Given the description of an element on the screen output the (x, y) to click on. 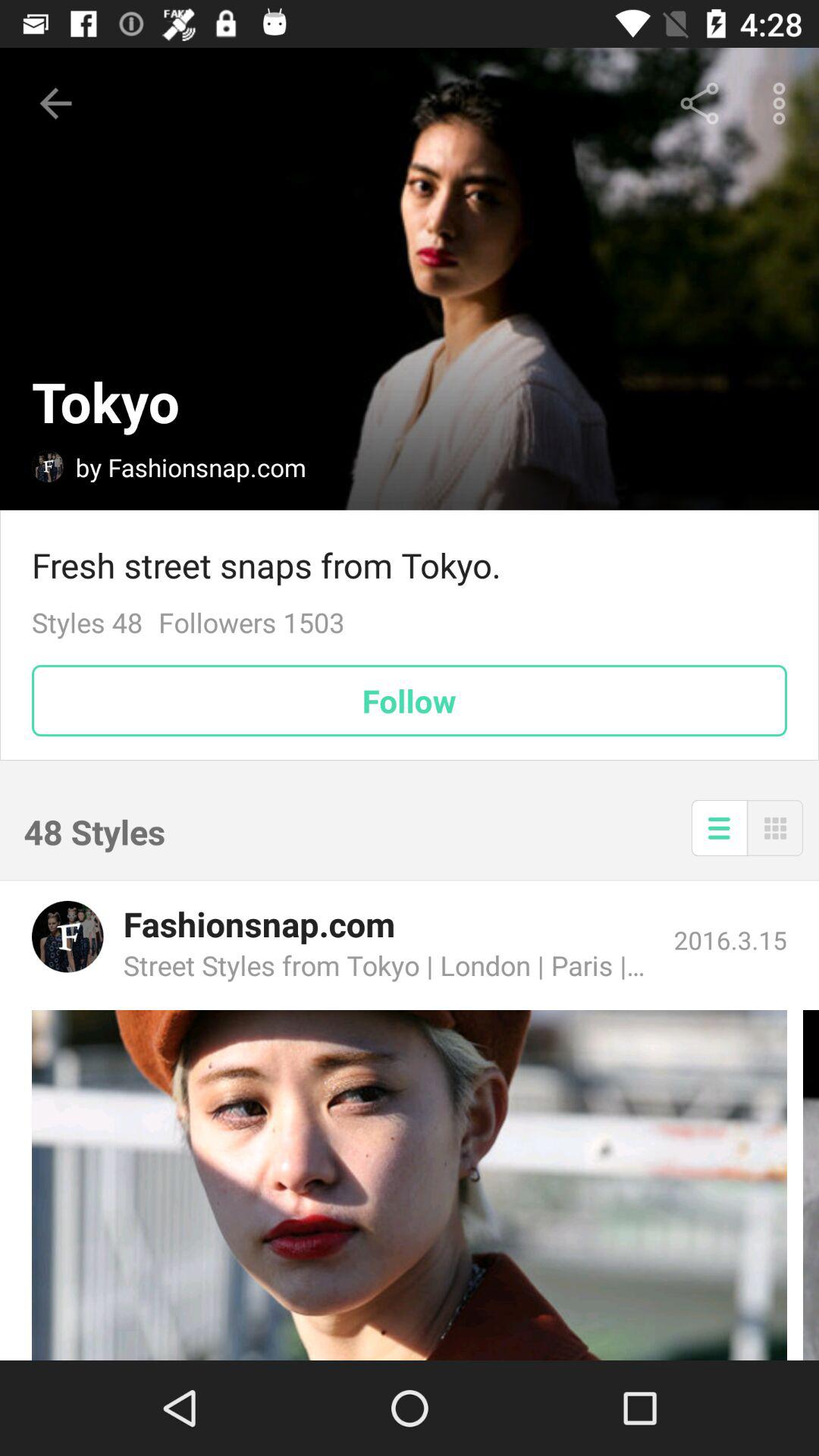
launch the item above the fresh street snaps item (783, 103)
